Given the description of an element on the screen output the (x, y) to click on. 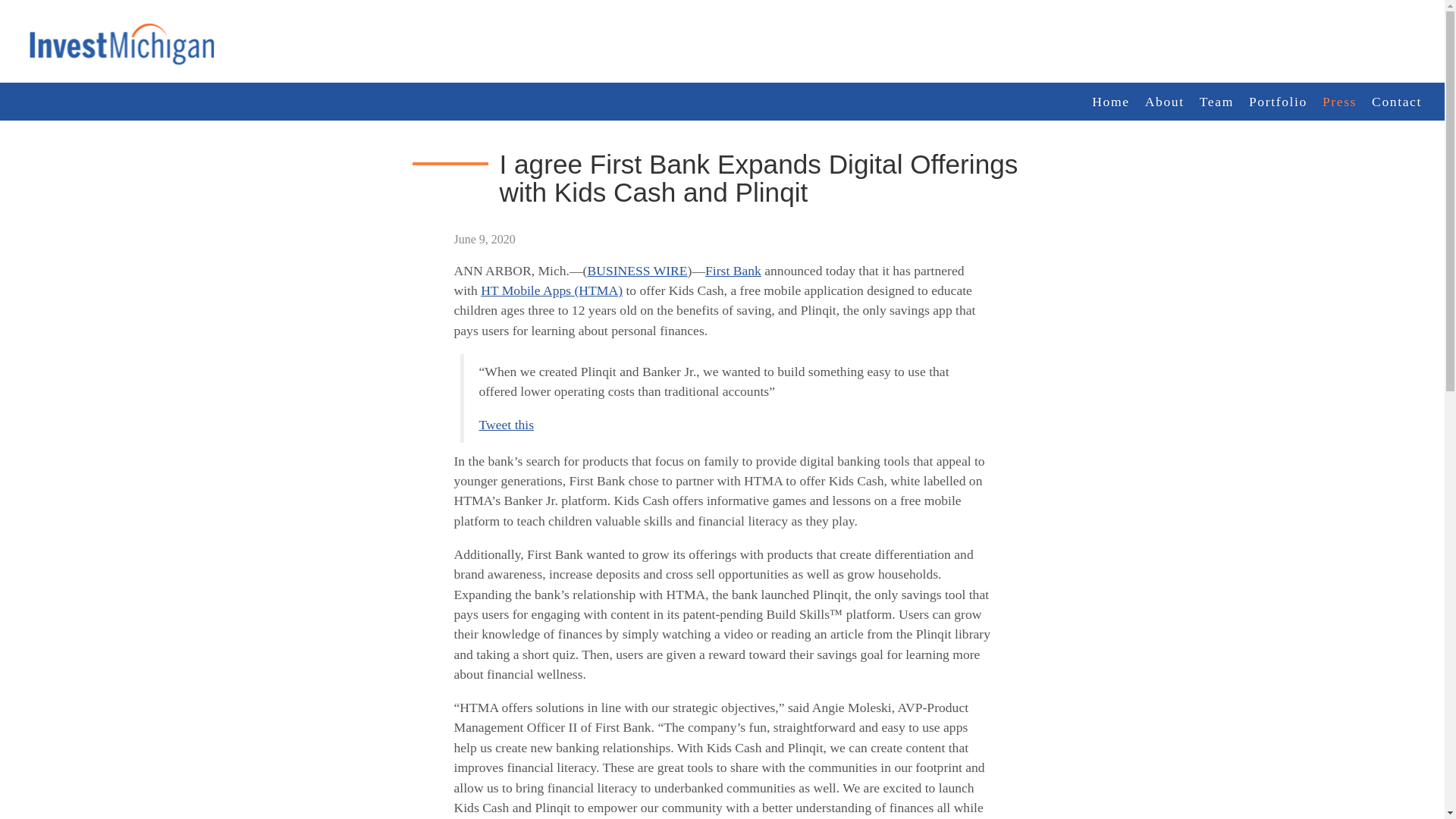
Press (1339, 101)
BUSINESS WIRE (636, 270)
Contact (1396, 101)
About (1164, 101)
First Bank (732, 270)
Portfolio (1277, 101)
Home (1110, 101)
Tweet this (506, 424)
Team (1216, 101)
